Given the description of an element on the screen output the (x, y) to click on. 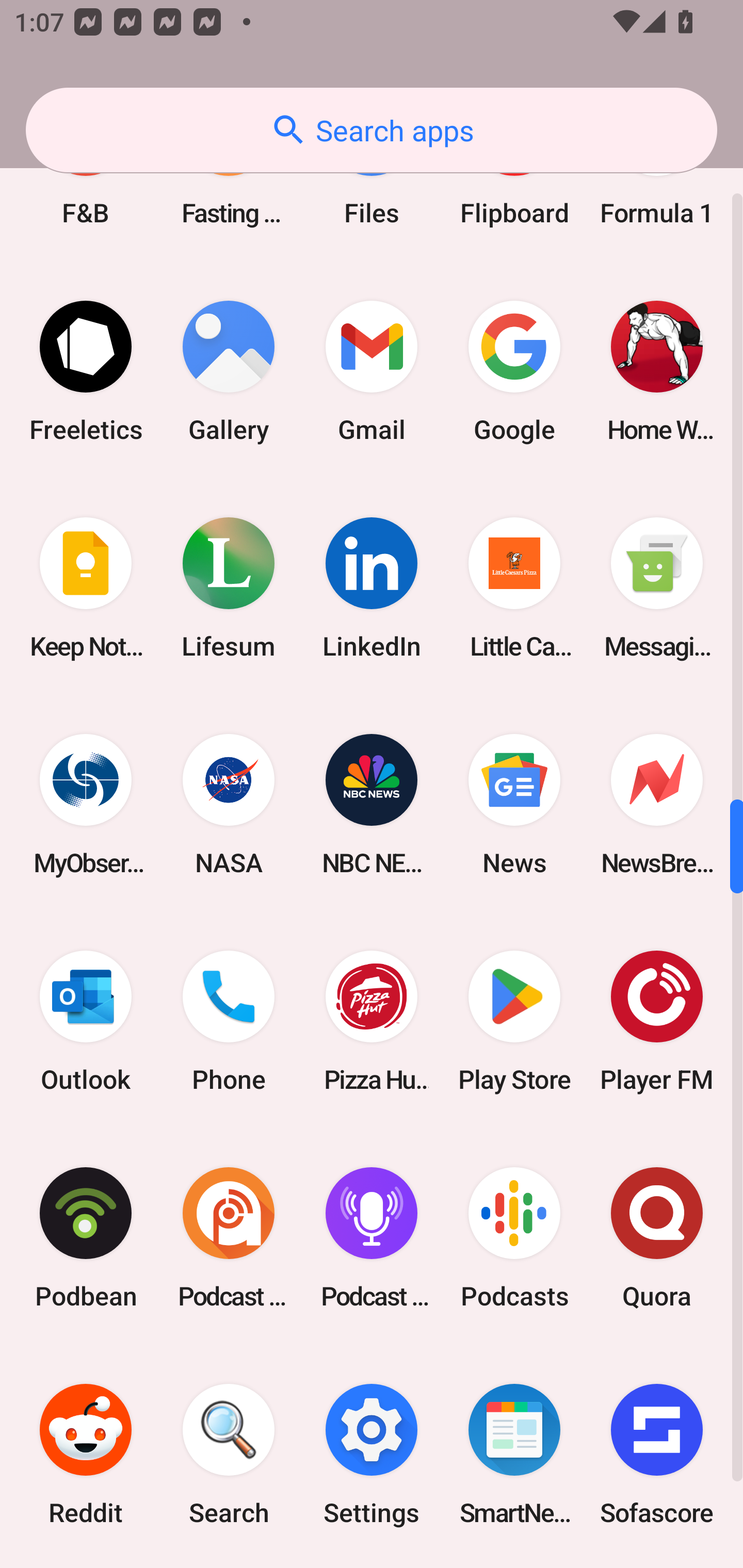
  Search apps (371, 130)
F&B (85, 183)
Fasting Coach (228, 183)
Files (371, 183)
Flipboard (514, 183)
Formula 1 (656, 183)
Freeletics (85, 371)
Gallery (228, 371)
Gmail (371, 371)
Google (514, 371)
Home Workout (656, 371)
Keep Notes (85, 587)
Lifesum (228, 587)
LinkedIn (371, 587)
Little Caesars Pizza (514, 587)
Messaging (656, 587)
MyObservatory (85, 804)
NASA (228, 804)
NBC NEWS (371, 804)
News (514, 804)
NewsBreak (656, 804)
Outlook (85, 1020)
Phone (228, 1020)
Pizza Hut HK & Macau (371, 1020)
Play Store (514, 1020)
Player FM (656, 1020)
Podbean (85, 1237)
Podcast Addict (228, 1237)
Podcast Player (371, 1237)
Podcasts (514, 1237)
Quora (656, 1237)
Reddit (85, 1454)
Search (228, 1454)
Settings (371, 1454)
SmartNews (514, 1454)
Sofascore (656, 1454)
